Given the description of an element on the screen output the (x, y) to click on. 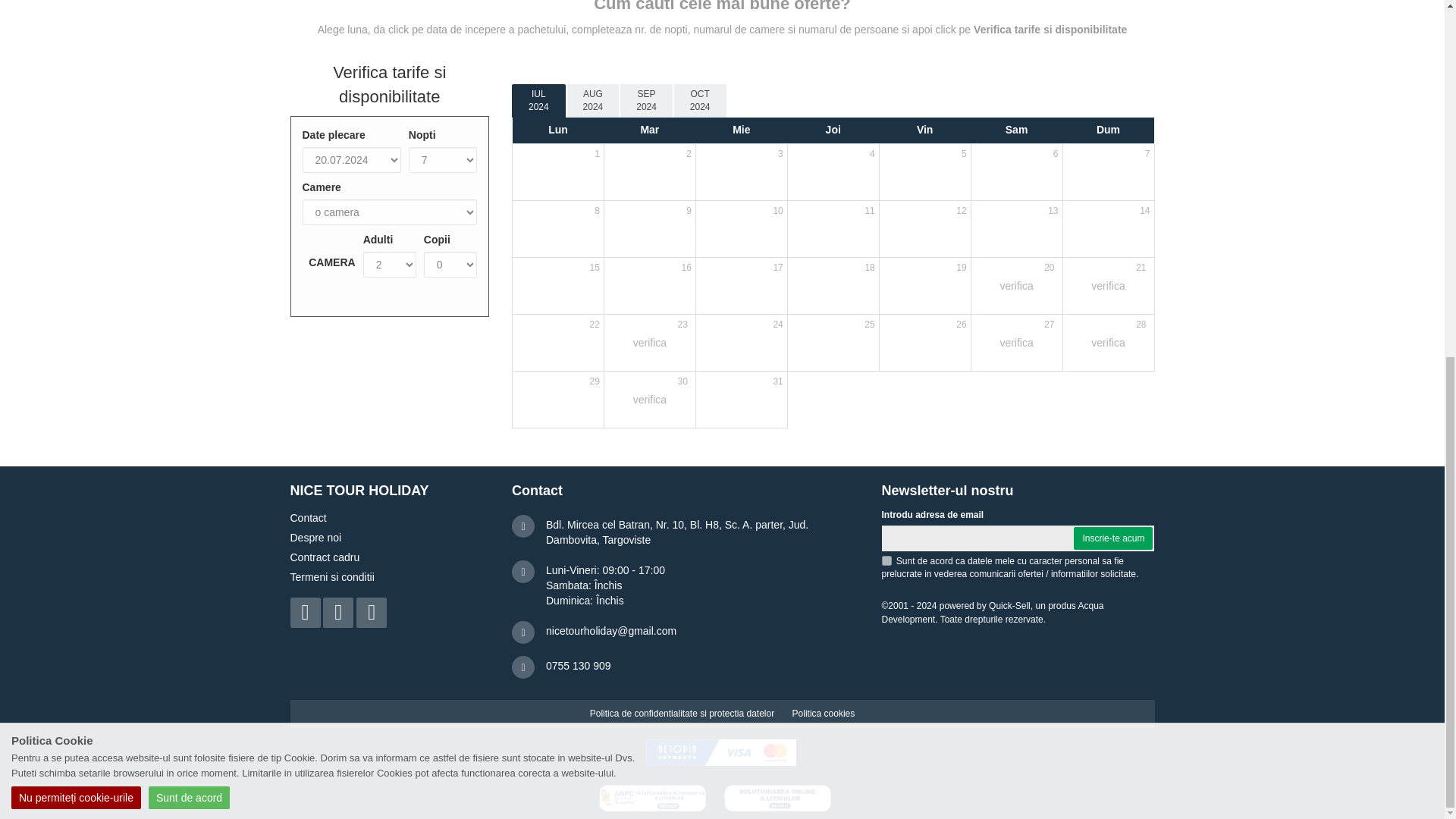
on (885, 560)
